Given the description of an element on the screen output the (x, y) to click on. 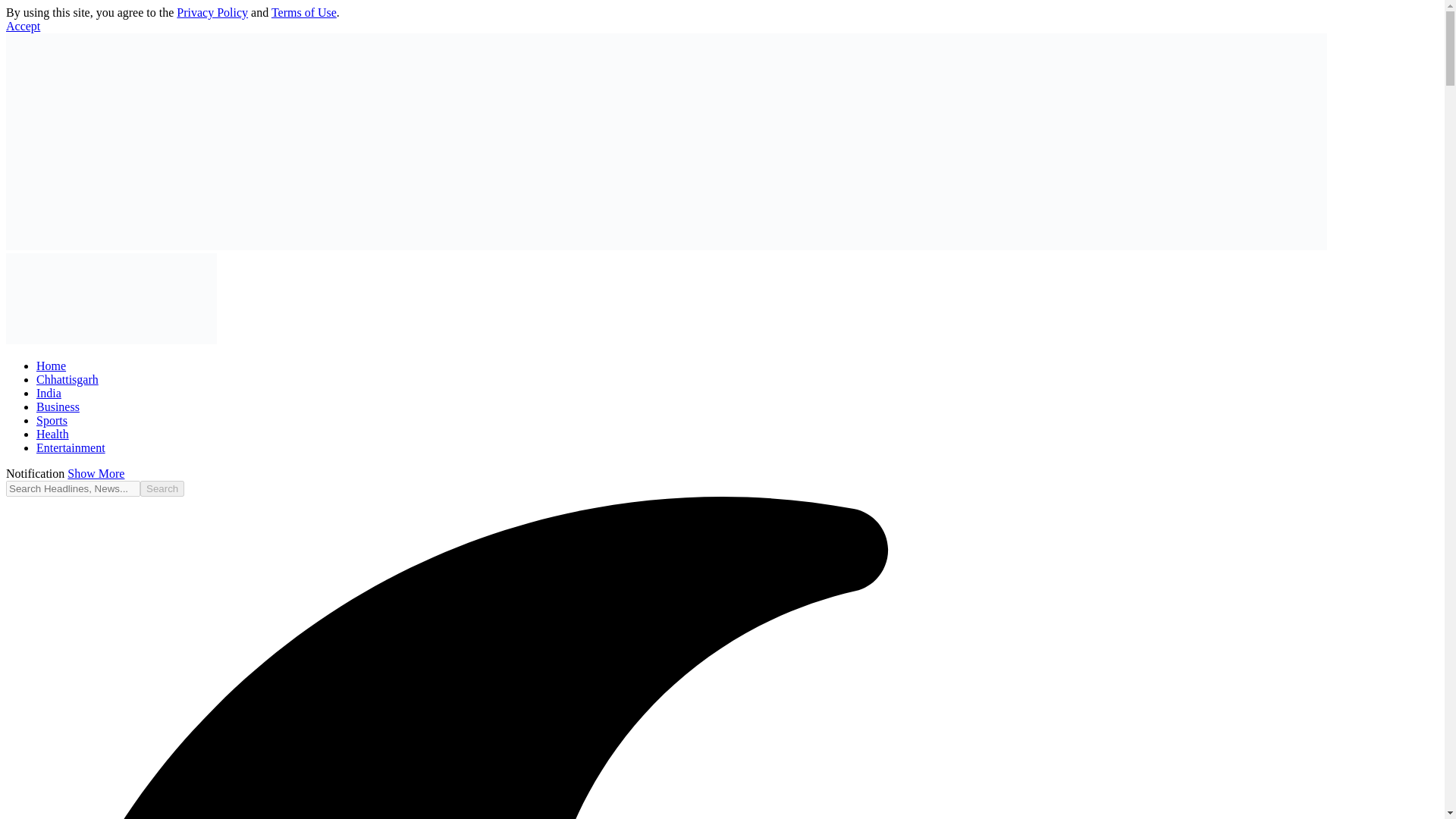
Entertainment (70, 447)
Privacy Policy (211, 11)
Chhattisgarh (67, 379)
India (48, 392)
Health (52, 433)
Show More (94, 472)
Search (161, 488)
Sports (51, 420)
Terms of Use (303, 11)
Search (161, 488)
Home (50, 365)
Business (58, 406)
Accept (22, 25)
